Given the description of an element on the screen output the (x, y) to click on. 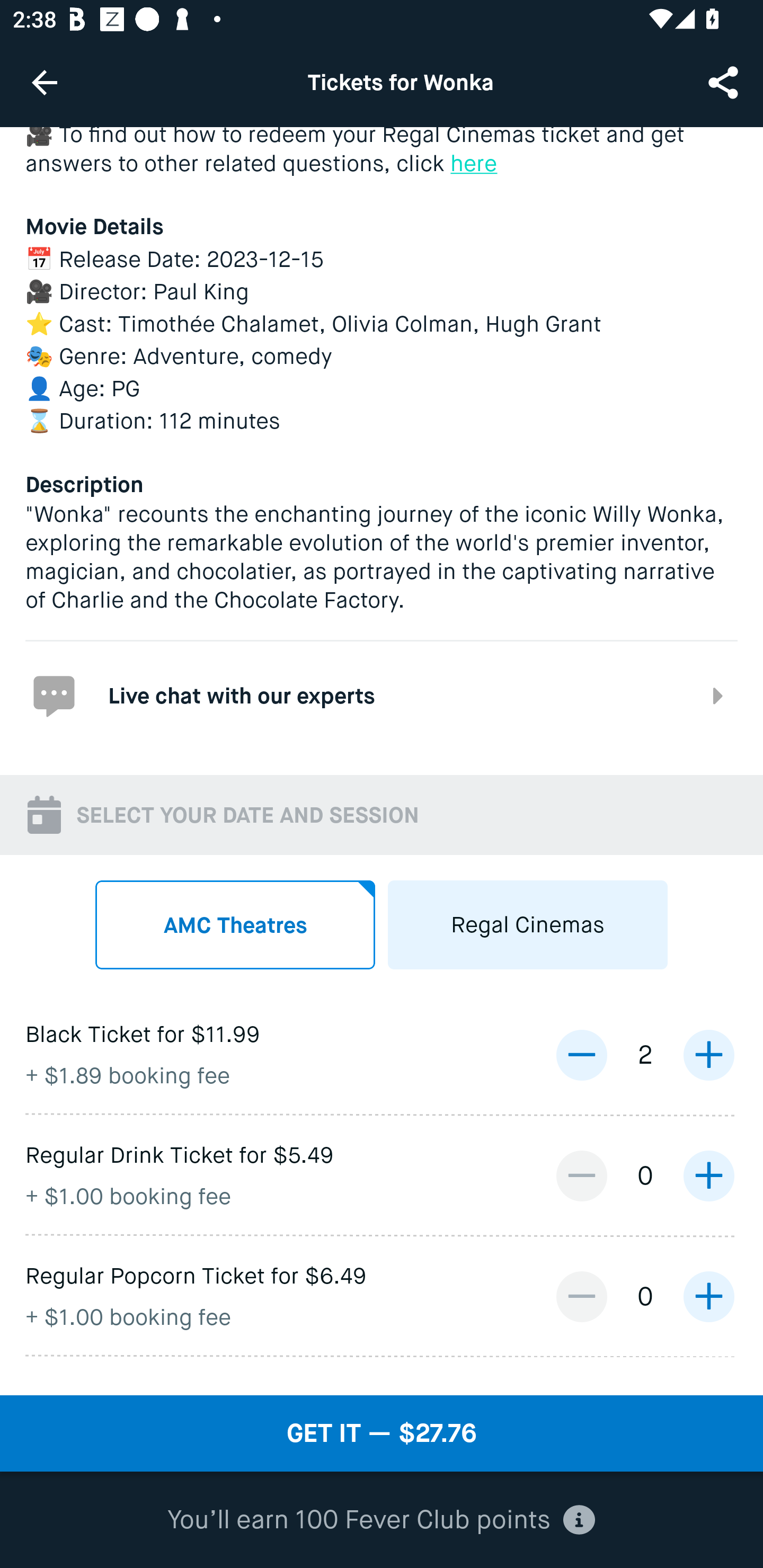
Navigate up (44, 82)
Share (724, 81)
Live chat with our experts (381, 694)
AMC Theatres (235, 924)
Regal Cinemas (527, 924)
decrease (581, 1054)
increase (708, 1054)
decrease (581, 1175)
increase (708, 1175)
decrease (581, 1296)
increase (708, 1296)
GET IT — $27.76 (381, 1433)
You’ll earn 100 Fever Club points (381, 1519)
